Given the description of an element on the screen output the (x, y) to click on. 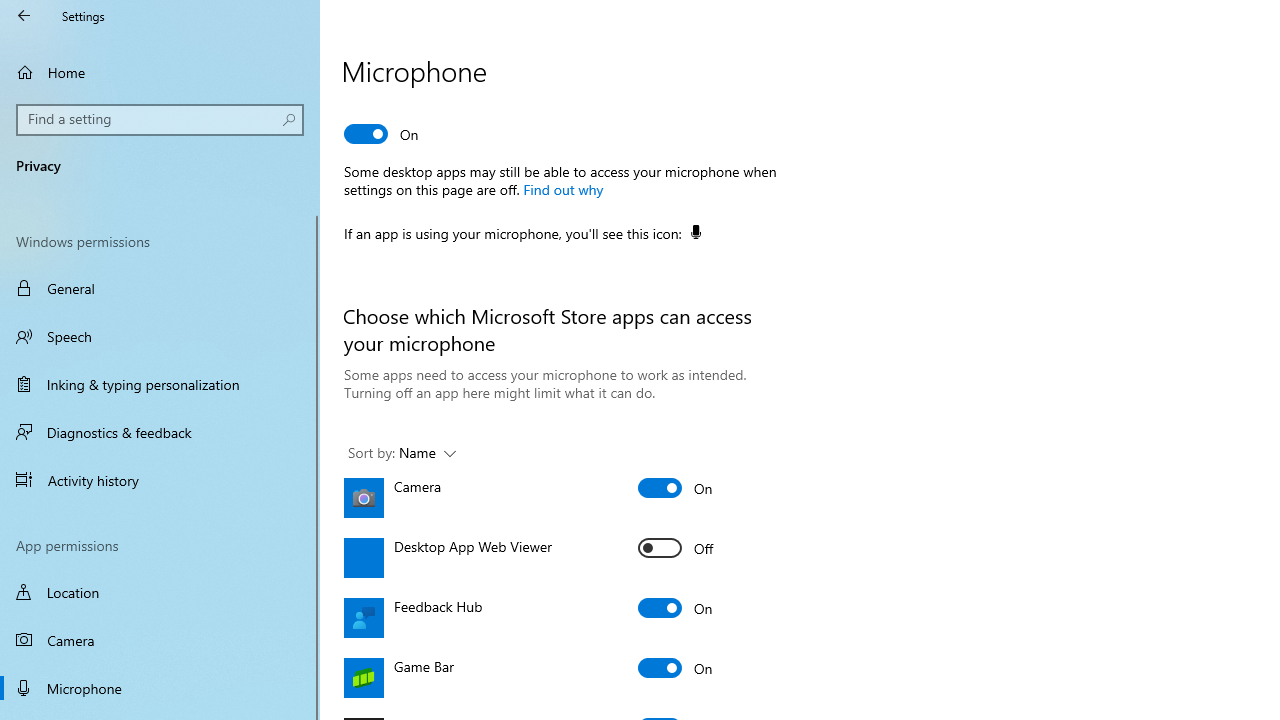
Speech (160, 335)
Location (160, 592)
Find out why (562, 189)
Camera (160, 639)
Microphone (160, 687)
Camera (675, 487)
Feedback Hub (675, 607)
Allow apps to access your microphone (381, 133)
Activity history (160, 479)
Sort by: Name (401, 453)
Diagnostics & feedback (160, 431)
Inking & typing personalization (160, 384)
Game Bar (675, 668)
